Given the description of an element on the screen output the (x, y) to click on. 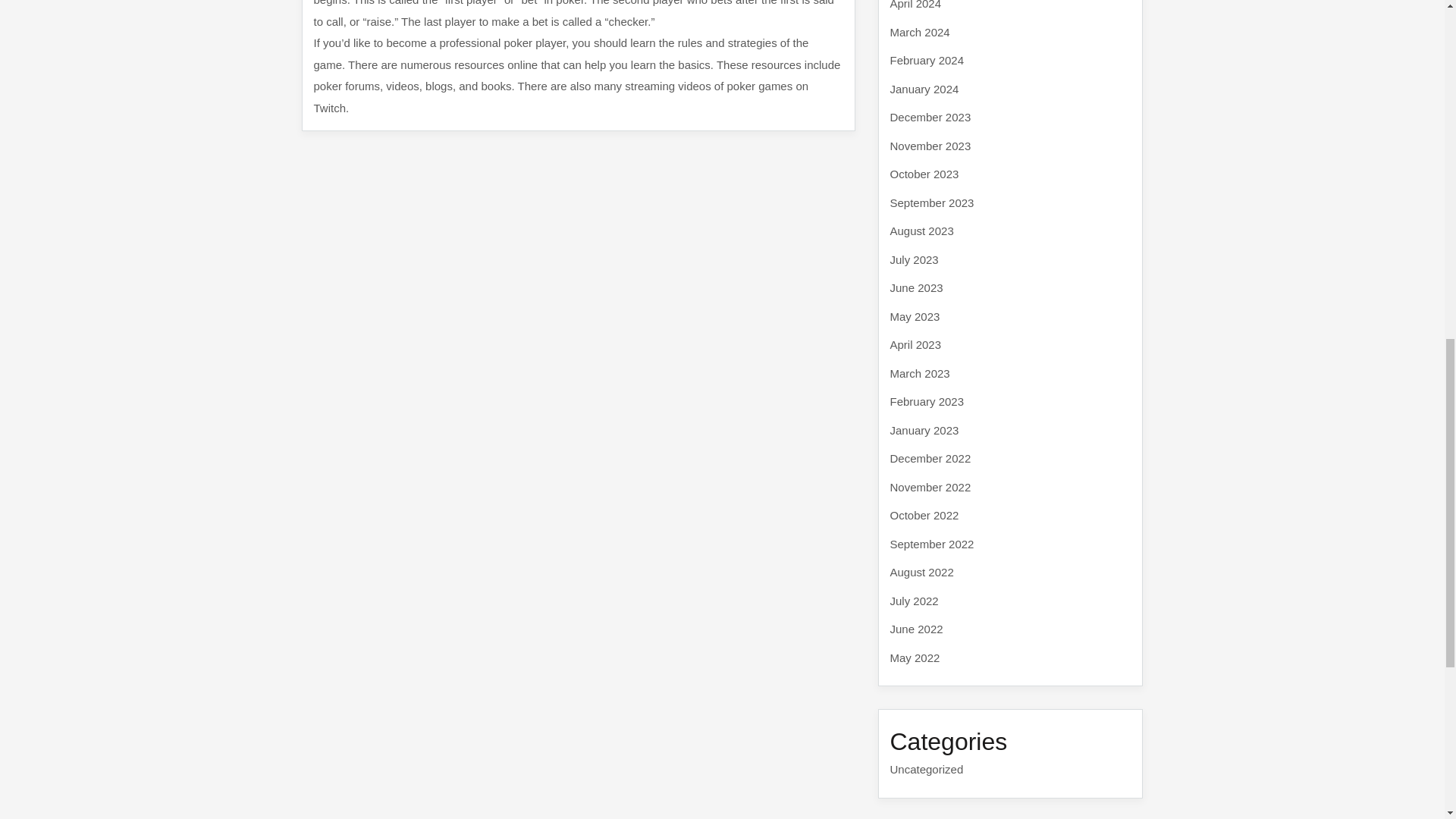
September 2023 (931, 201)
February 2024 (926, 60)
April 2023 (915, 344)
February 2023 (926, 400)
July 2023 (914, 259)
March 2024 (919, 31)
January 2023 (924, 429)
June 2023 (916, 287)
August 2023 (921, 230)
October 2023 (924, 173)
December 2022 (930, 458)
December 2023 (930, 116)
March 2023 (919, 373)
January 2024 (924, 88)
April 2024 (915, 4)
